Given the description of an element on the screen output the (x, y) to click on. 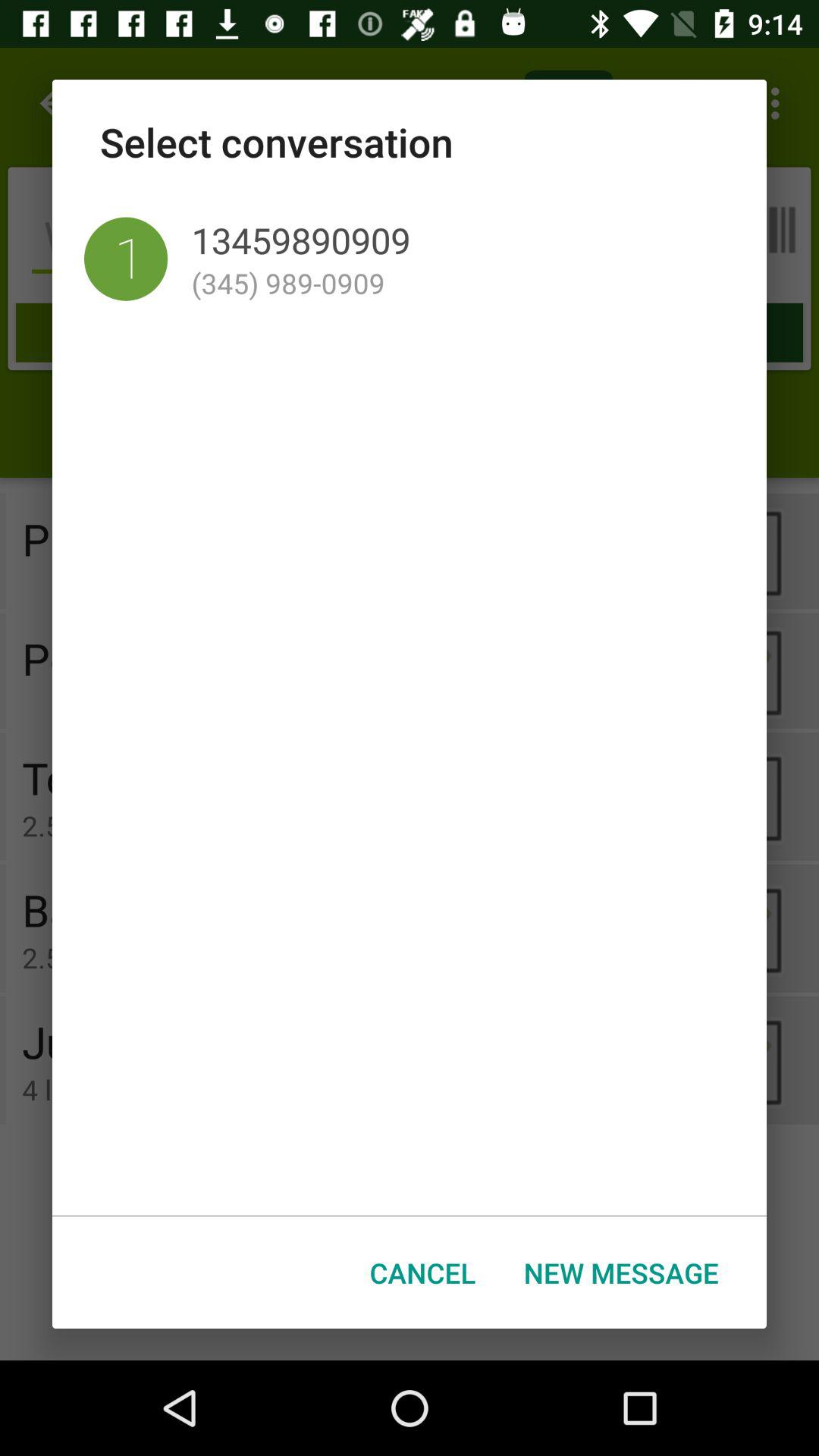
tap the item at the top left corner (125, 258)
